Given the description of an element on the screen output the (x, y) to click on. 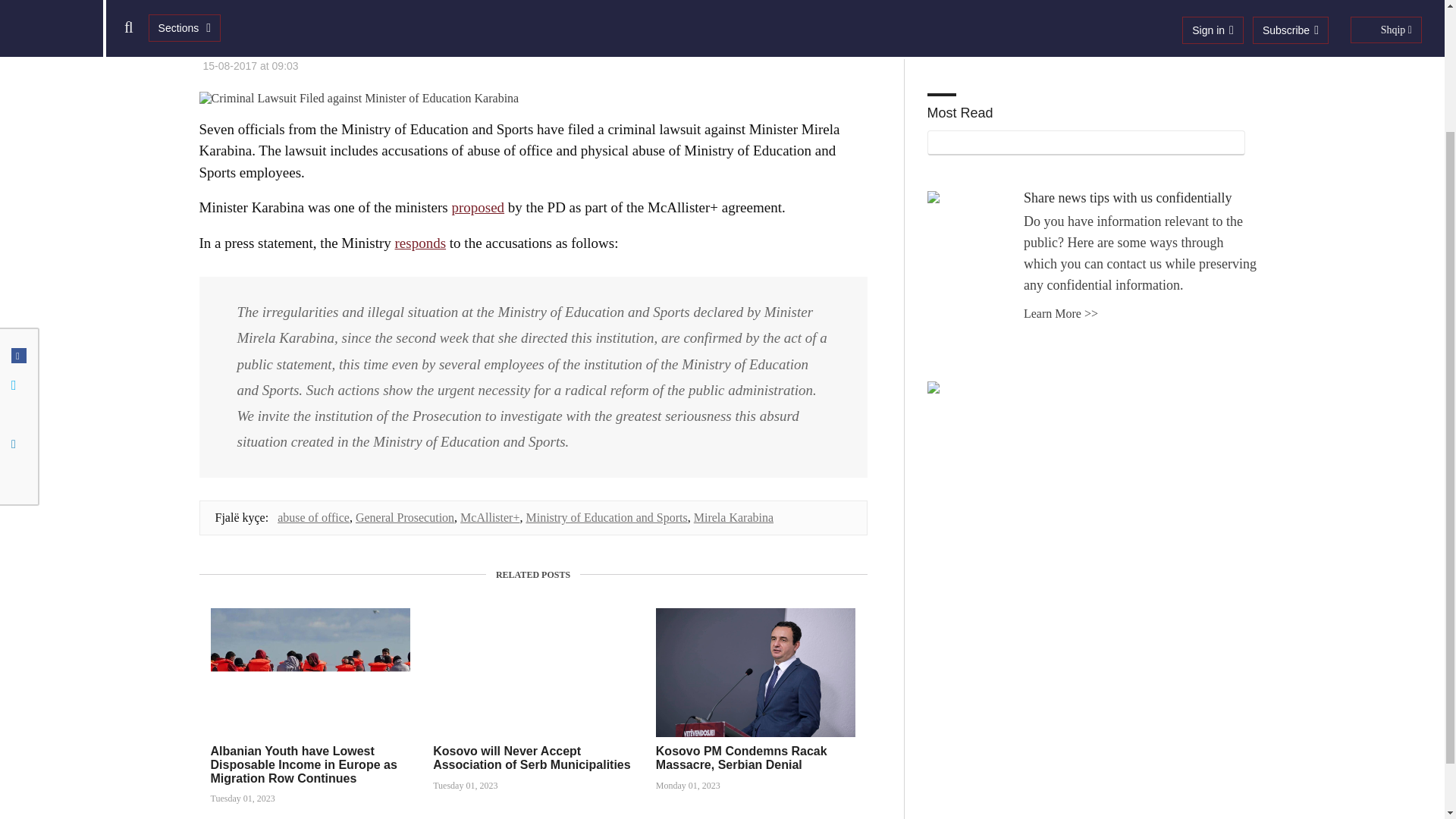
General Prosecution (404, 517)
responds (420, 242)
Kosovo PM Condemns Racak Massacre, Serbian Denial (741, 757)
Kosovo will Never Accept Association of Serb Municipalities (531, 757)
Kosovo will Never Accept Association of Serb Municipalities (531, 757)
abuse of office (313, 517)
Ministry of Education and Sports (606, 517)
Share on WhatsApp (18, 316)
